Given the description of an element on the screen output the (x, y) to click on. 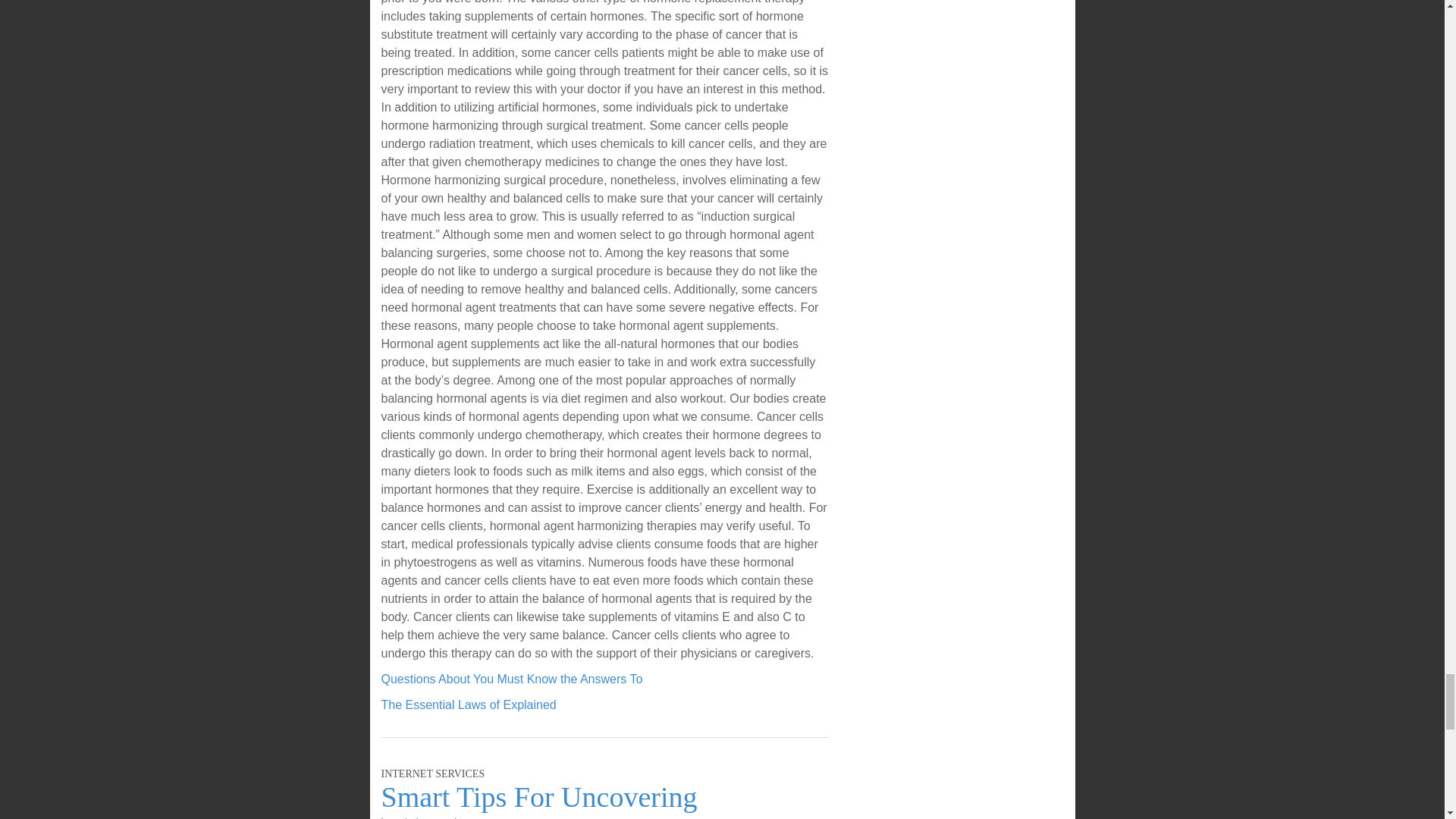
Posts by admin (408, 817)
